Given the description of an element on the screen output the (x, y) to click on. 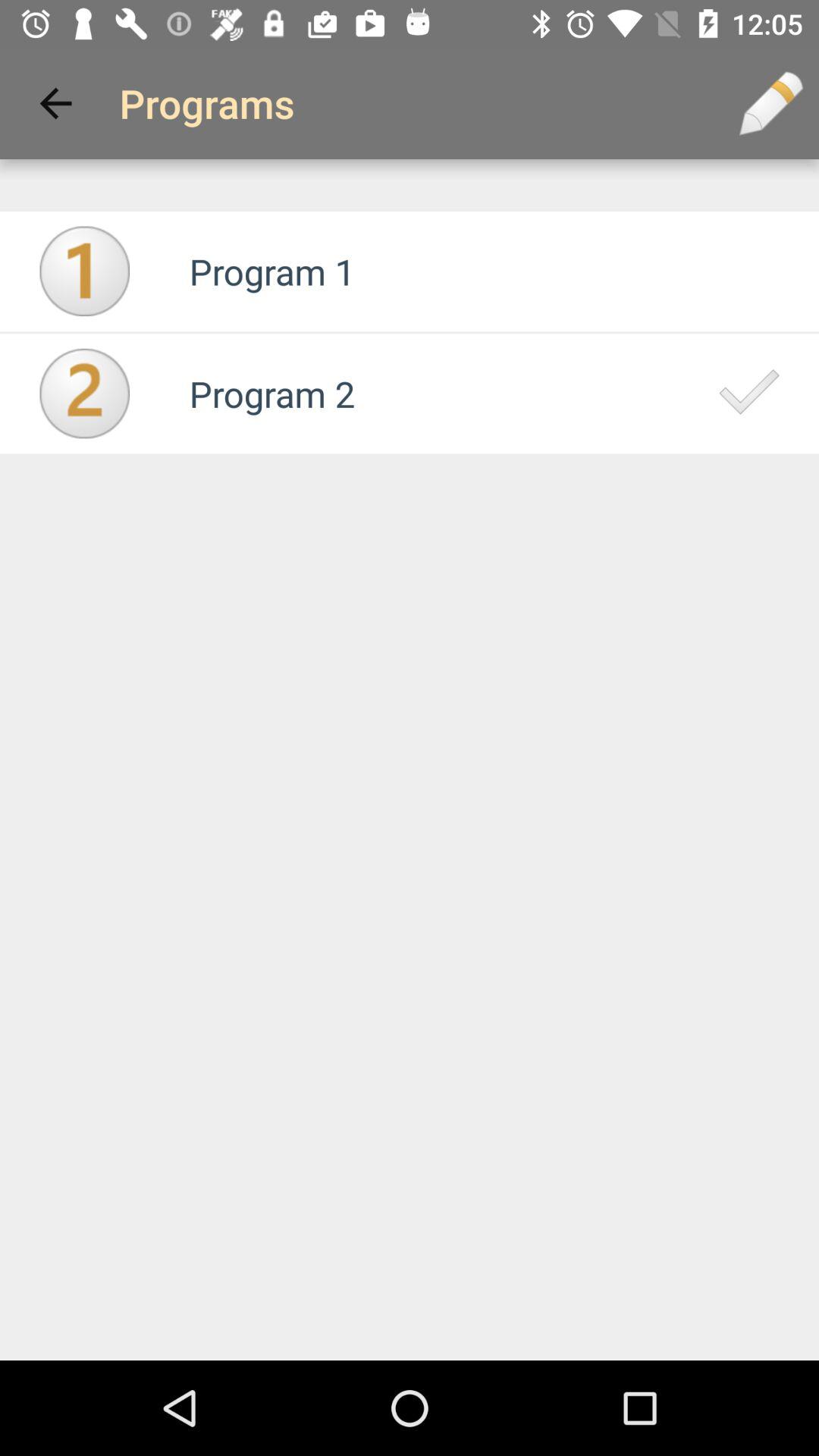
tap the icon next to the programs icon (771, 103)
